Given the description of an element on the screen output the (x, y) to click on. 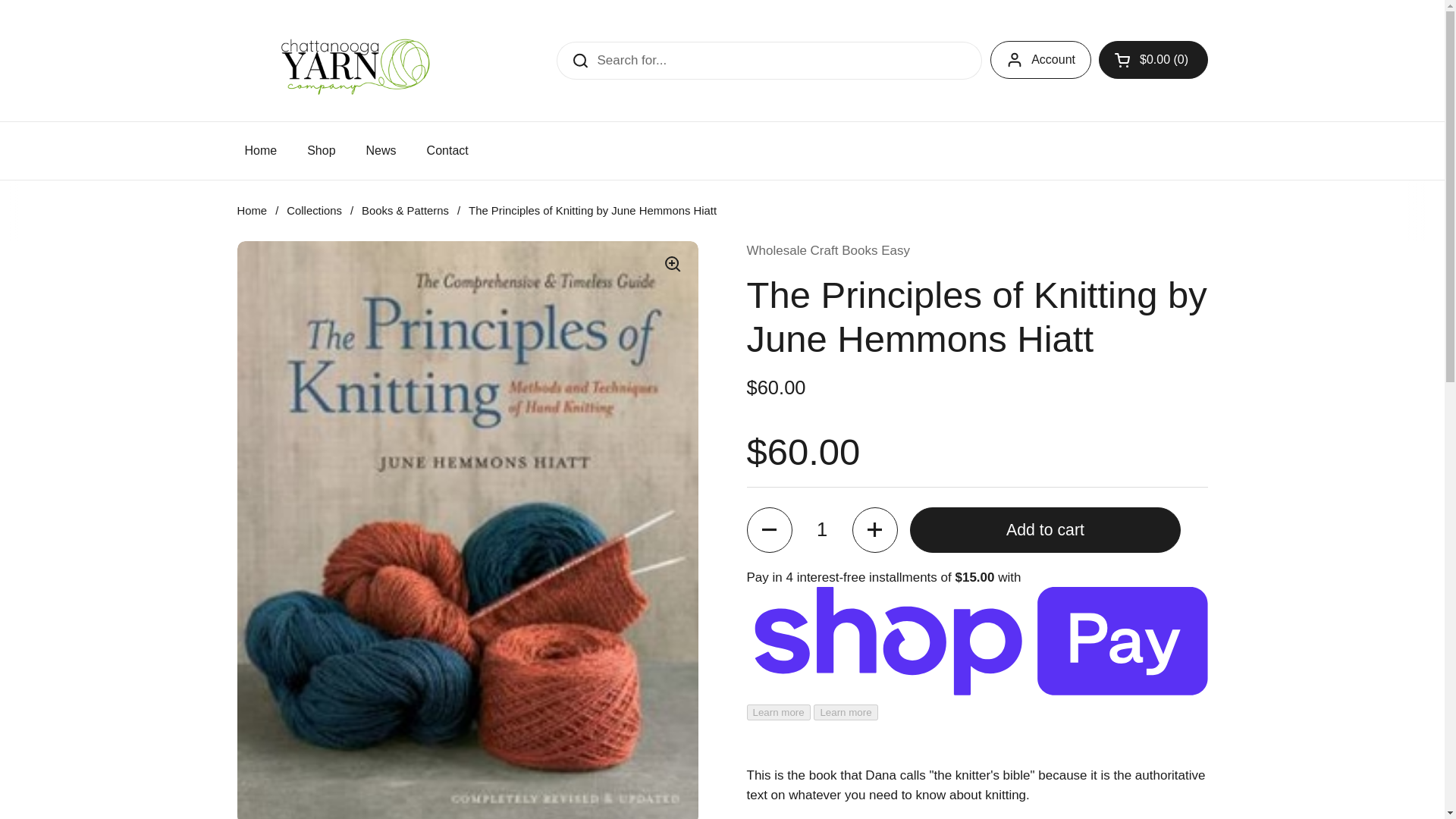
Account (1040, 59)
Home (260, 150)
Contact (447, 150)
ChattanoogaYarnCo (349, 60)
Home (250, 210)
Collections (314, 210)
Shop (321, 150)
Open cart (1153, 59)
News (381, 150)
Add to cart (1045, 529)
1 (821, 529)
